Given the description of an element on the screen output the (x, y) to click on. 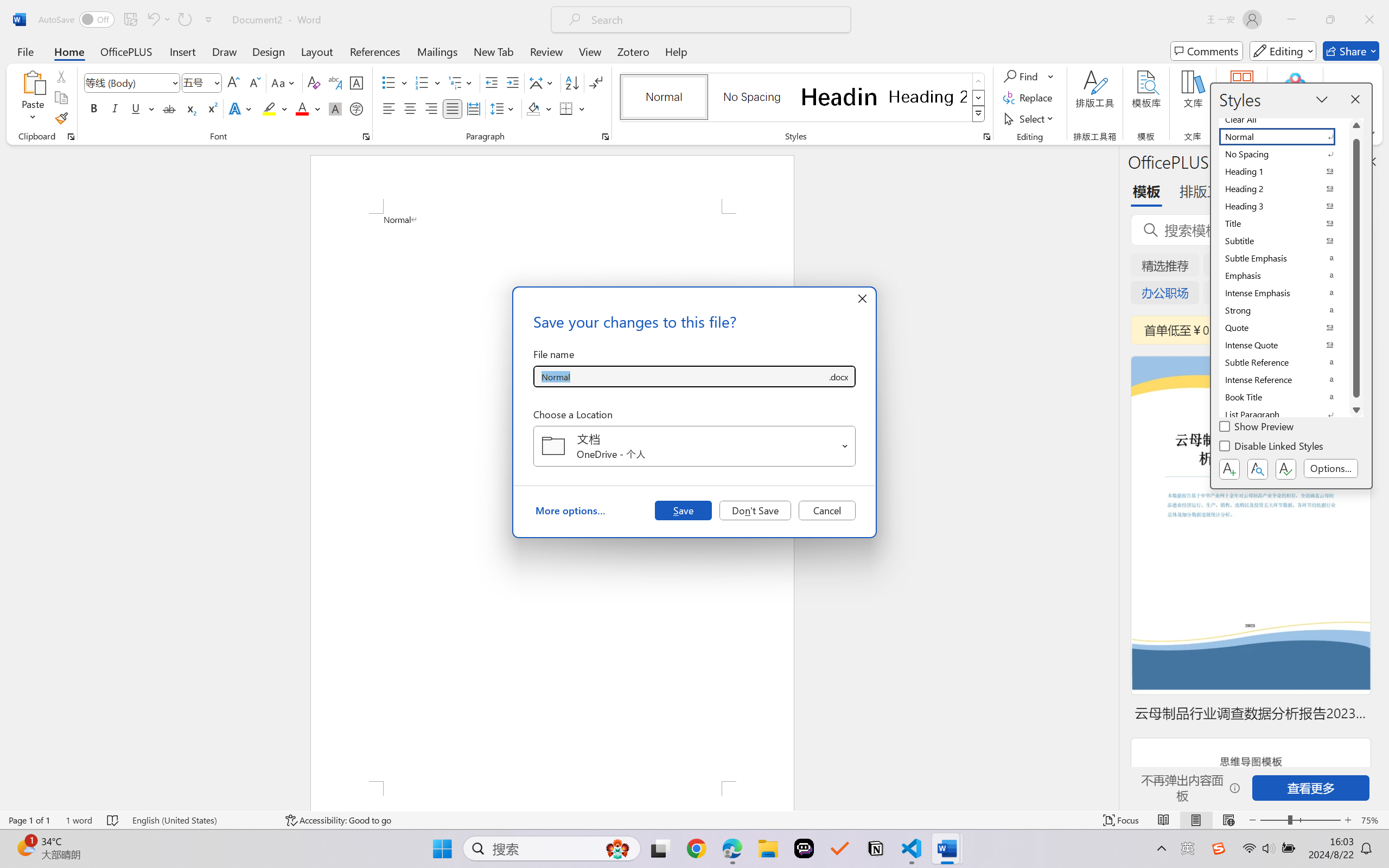
AutomationID: DynamicSearchBoxGleamImage (617, 848)
Text Highlight Color (274, 108)
Numbering (421, 82)
Strikethrough (169, 108)
Don't Save (755, 509)
Asian Layout (542, 82)
Accessibility Checker Accessibility: Good to go (338, 819)
Superscript (210, 108)
Copy (60, 97)
Repeat Doc Close (184, 19)
Bullets (395, 82)
Close (1369, 19)
Format Painter (60, 118)
Heading 2 (927, 96)
